Given the description of an element on the screen output the (x, y) to click on. 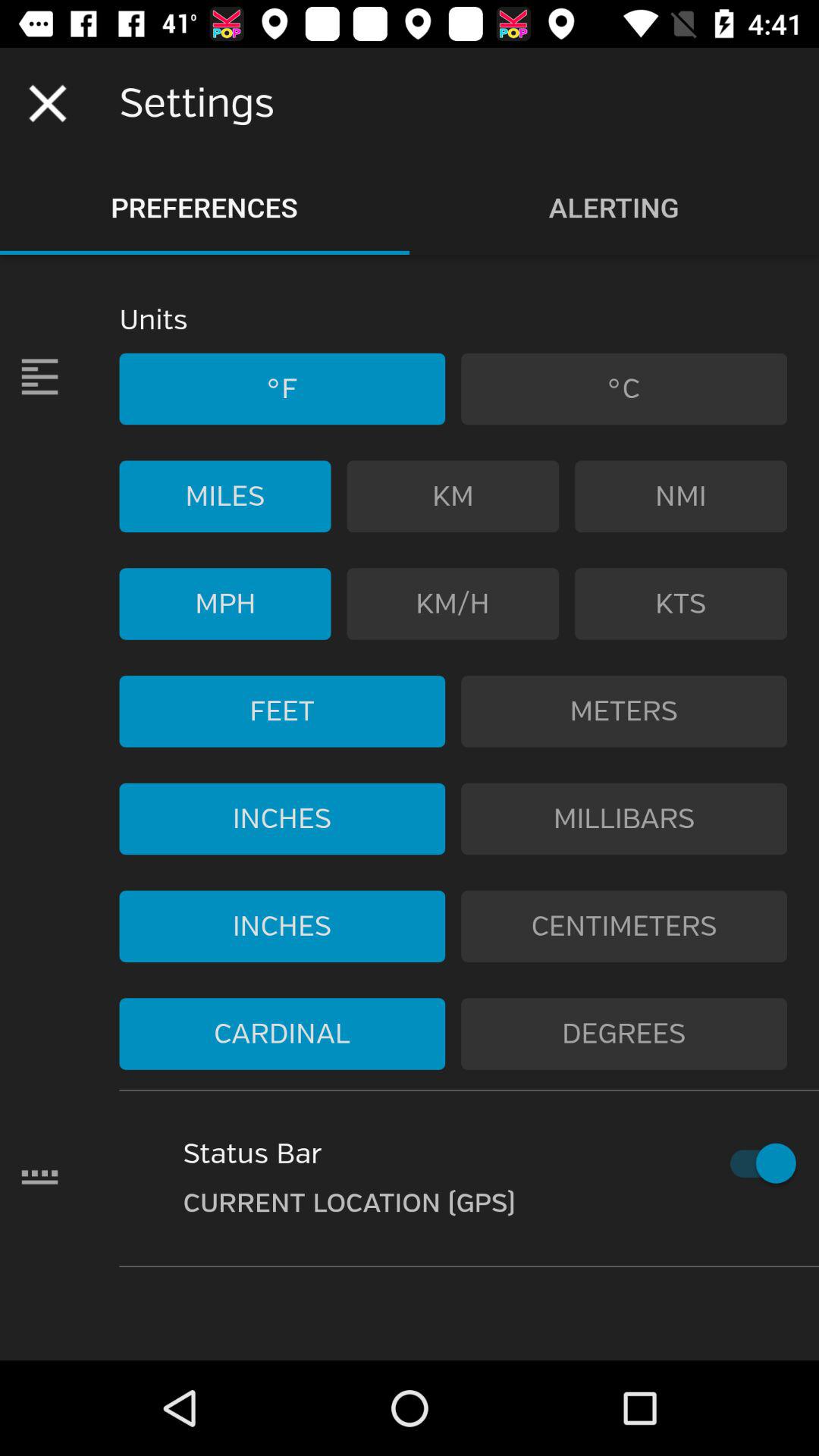
scroll to mph (225, 603)
